Given the description of an element on the screen output the (x, y) to click on. 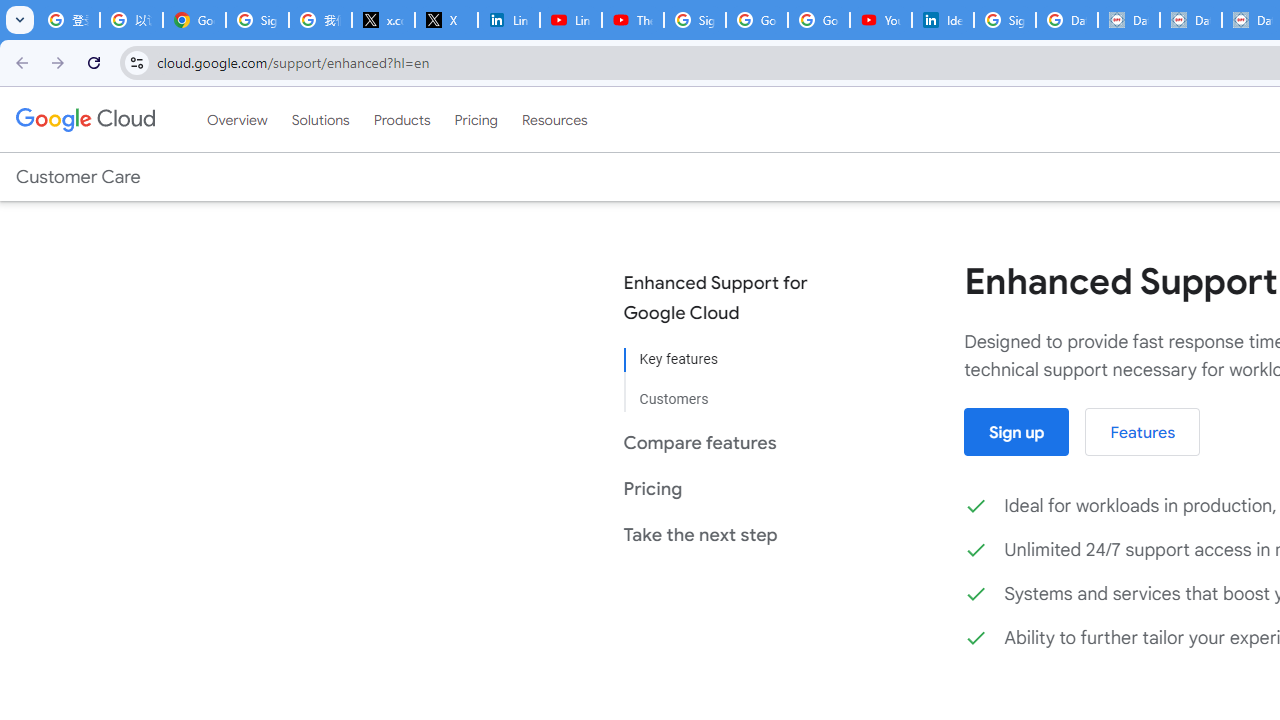
X (445, 20)
Sign in - Google Accounts (694, 20)
Solutions (320, 119)
LinkedIn Privacy Policy (508, 20)
Sign in - Google Accounts (1004, 20)
Key features (730, 359)
Compare features (730, 442)
